Given the description of an element on the screen output the (x, y) to click on. 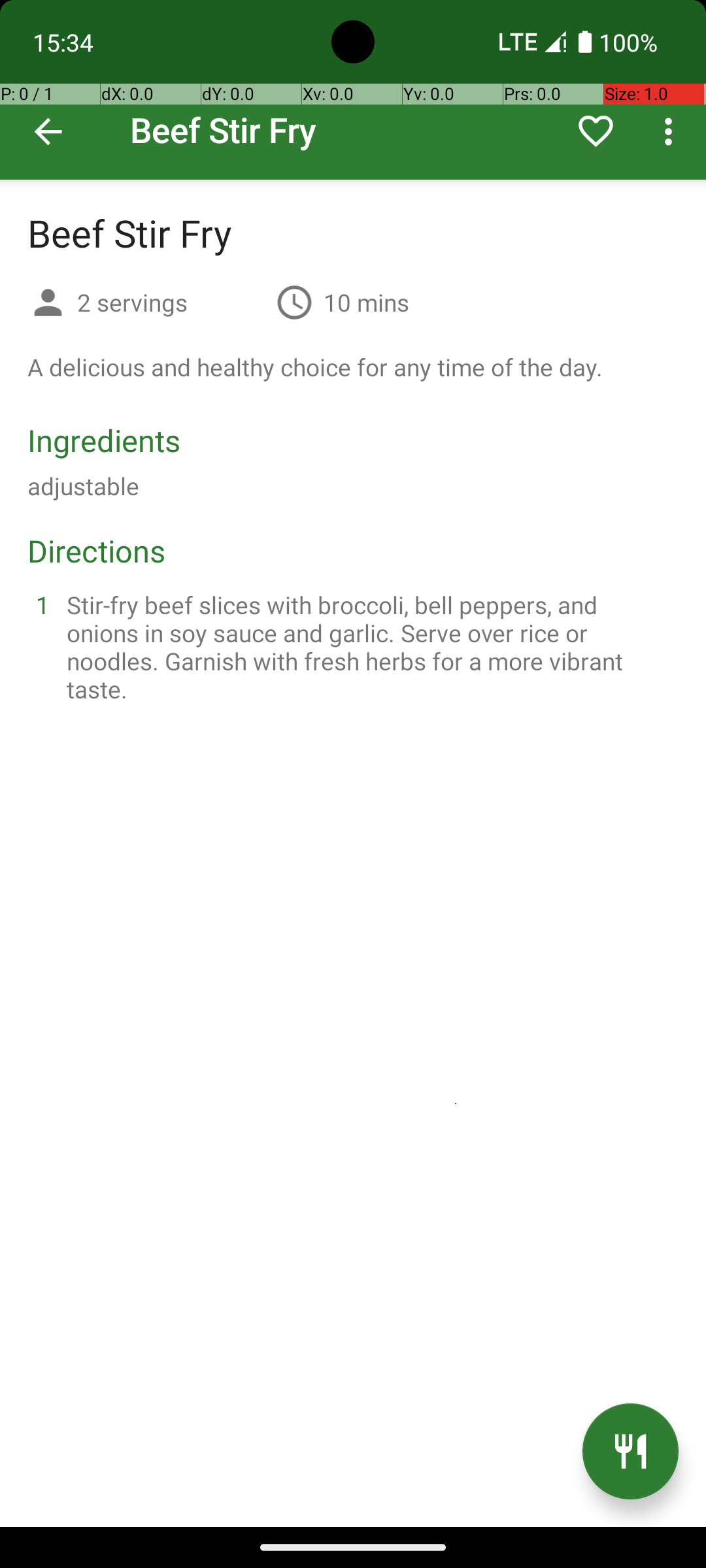
Stir-fry beef slices with broccoli, bell peppers, and onions in soy sauce and garlic. Serve over rice or noodles. Garnish with fresh herbs for a more vibrant taste. Element type: android.widget.TextView (368, 646)
